Given the description of an element on the screen output the (x, y) to click on. 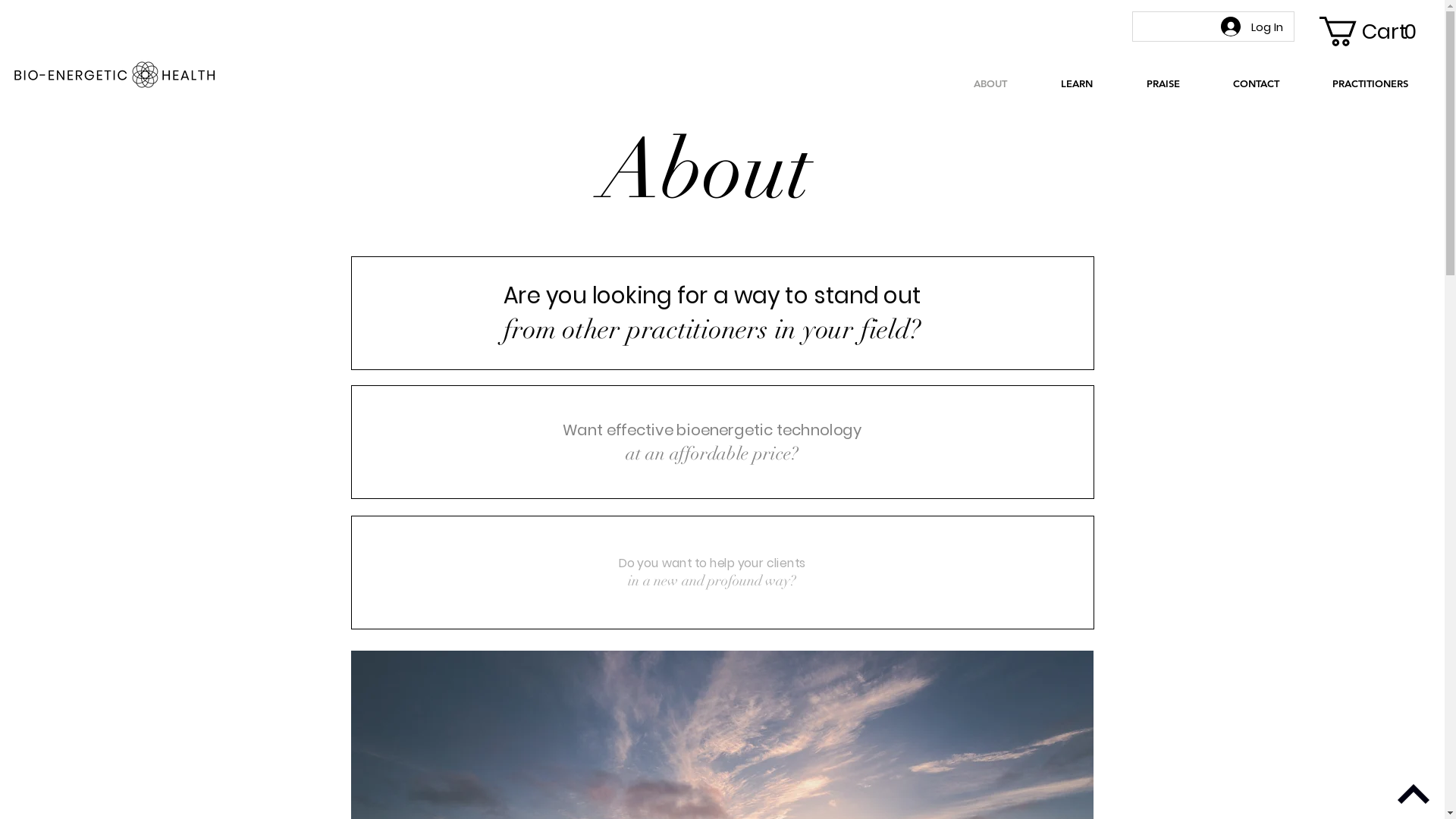
PRAISE Element type: text (1162, 83)
ABOUT Element type: text (989, 83)
Cart
0 Element type: text (1373, 31)
LEARN Element type: text (1076, 83)
Log In Element type: text (1251, 26)
PRACTITIONERS Element type: text (1369, 83)
CONTACT Element type: text (1255, 83)
